Given the description of an element on the screen output the (x, y) to click on. 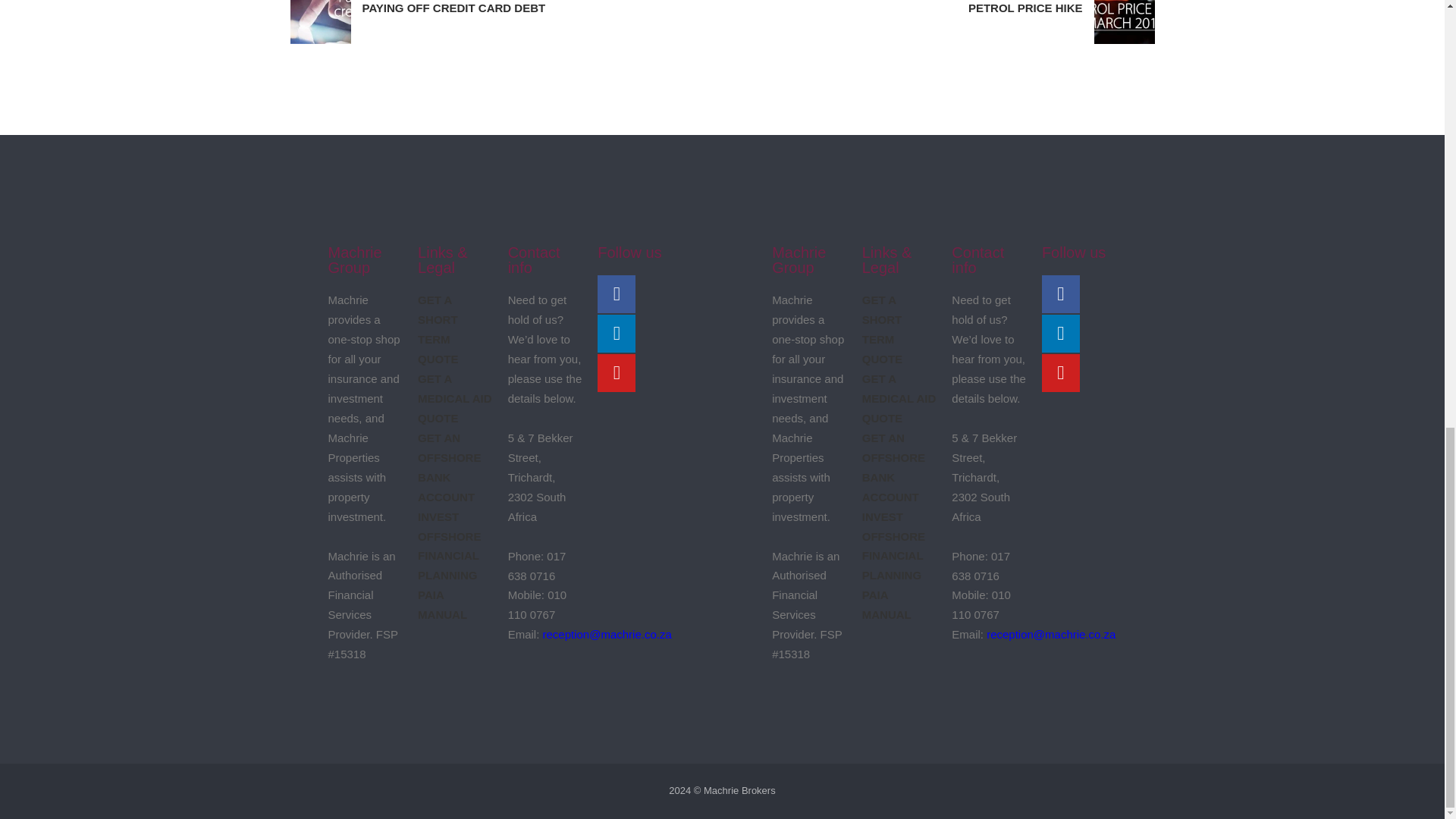
FINANCIAL PLANNING (448, 564)
INVEST OFFSHORE (448, 526)
PAIA MANUAL (938, 22)
GET A MEDICAL AID QUOTE (505, 22)
PAIA MANUAL (442, 604)
GET A MEDICAL AID QUOTE (898, 398)
INVEST OFFSHORE (886, 604)
FINANCIAL PLANNING (454, 398)
